Given the description of an element on the screen output the (x, y) to click on. 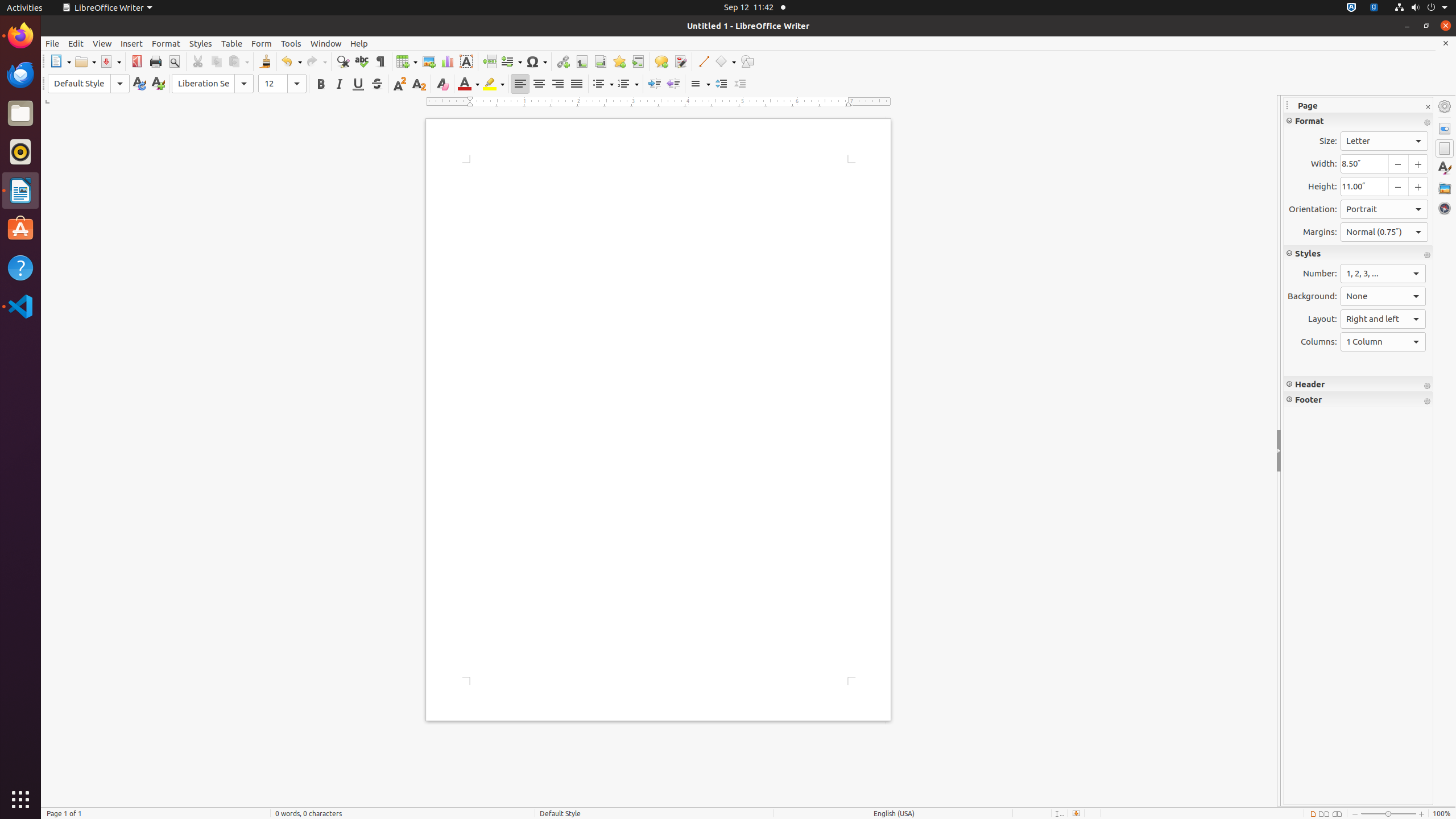
Gallery Element type: radio-button (1444, 188)
Open Element type: push-button (84, 61)
Spelling Element type: push-button (361, 61)
Print Element type: push-button (155, 61)
Numbering Element type: push-button (627, 83)
